Given the description of an element on the screen output the (x, y) to click on. 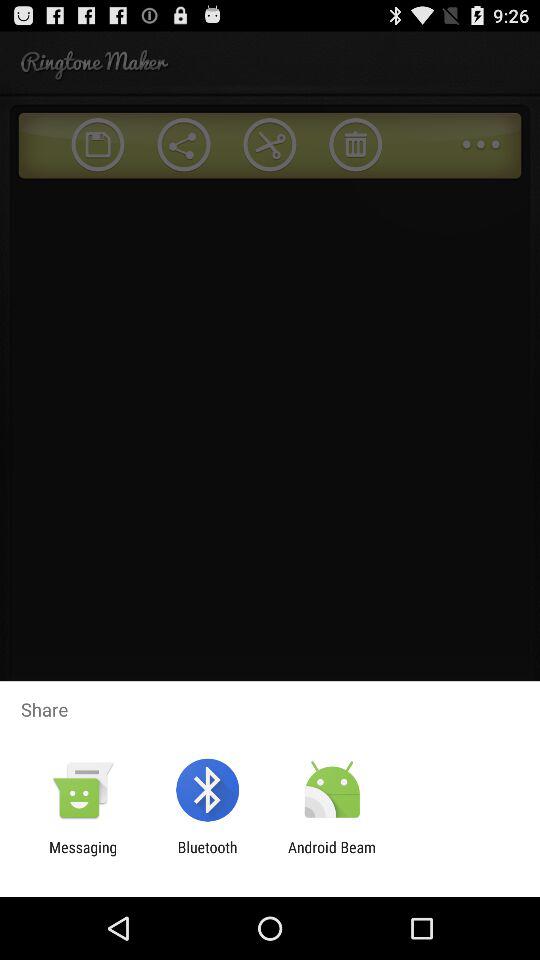
turn on item next to the android beam app (207, 856)
